Given the description of an element on the screen output the (x, y) to click on. 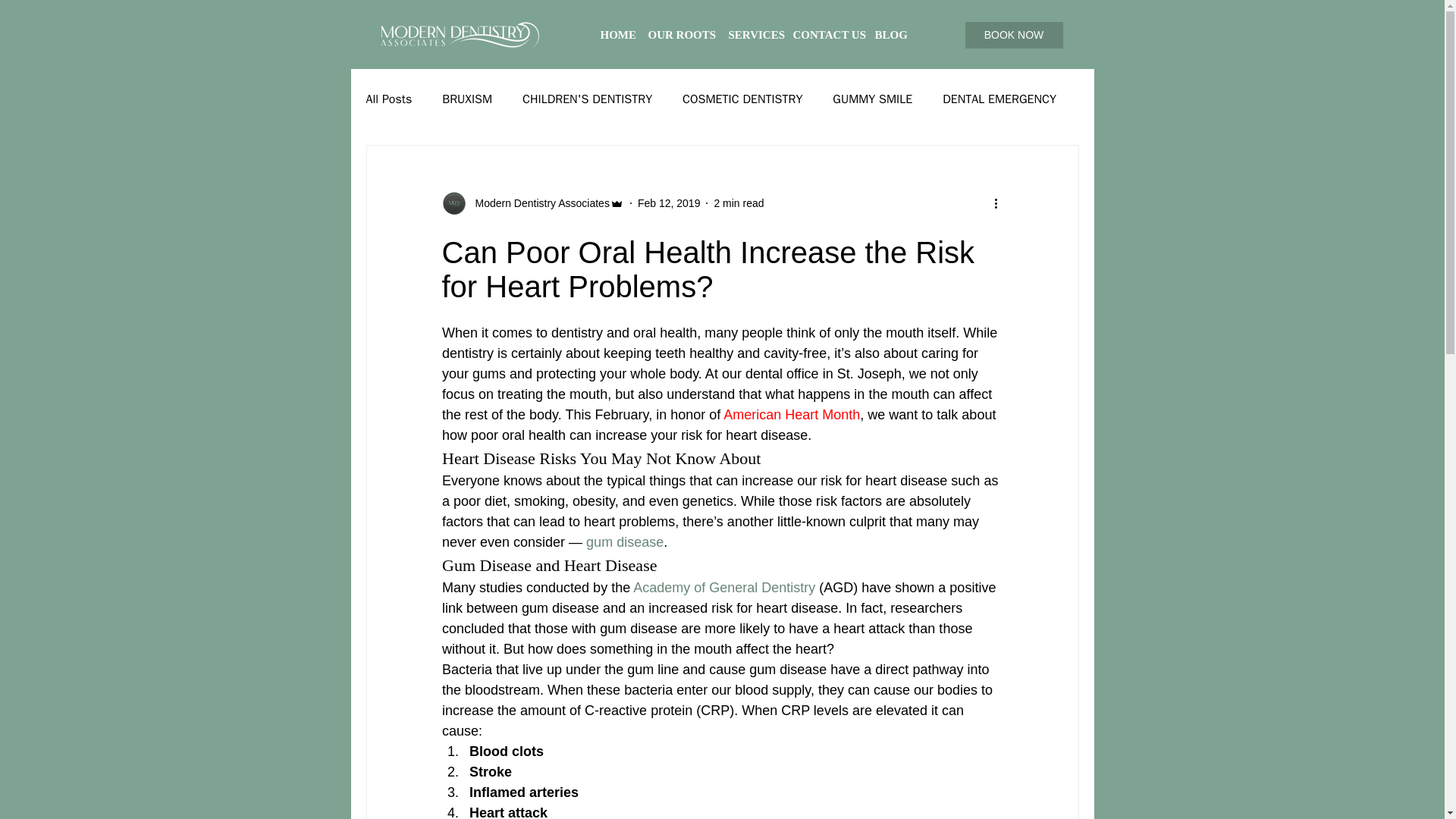
COSMETIC DENTISTRY (742, 98)
SERVICES (752, 34)
Modern Dentistry Associates (536, 203)
CONTACT US (826, 34)
Modern Dentistry Associates Horizontal-W (460, 35)
GUMMY SMILE (872, 98)
BLOG (889, 34)
OUR ROOTS (680, 34)
2 min read (737, 203)
HOME (616, 34)
Academy of General Dentistry (724, 587)
Modern Dentistry Associates (532, 202)
BOOK NOW (1012, 35)
gum disease (624, 541)
CHILDREN'S DENTISTRY (587, 98)
